Given the description of an element on the screen output the (x, y) to click on. 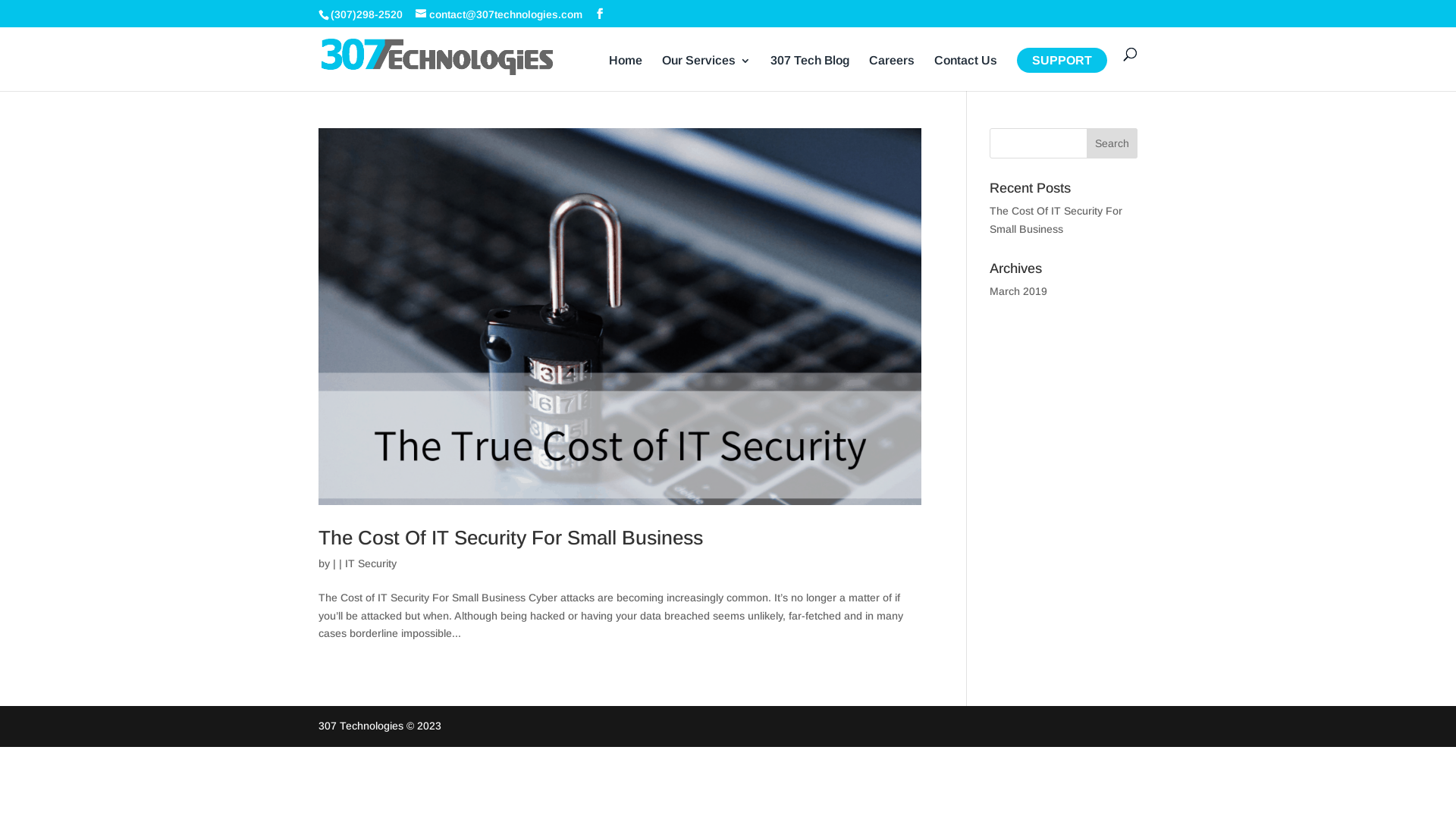
Our Services Element type: text (706, 73)
Search Element type: text (1111, 143)
contact@307technologies.com Element type: text (498, 13)
IT Security Element type: text (370, 563)
The Cost Of IT Security For Small Business Element type: text (510, 537)
The Cost Of IT Security For Small Business Element type: text (1055, 219)
March 2019 Element type: text (1018, 291)
SUPPORT Element type: text (1062, 73)
307 Tech Blog Element type: text (809, 73)
Careers Element type: text (891, 73)
Home Element type: text (625, 73)
(307)298-2520 Element type: text (366, 13)
Contact Us Element type: text (965, 73)
